Given the description of an element on the screen output the (x, y) to click on. 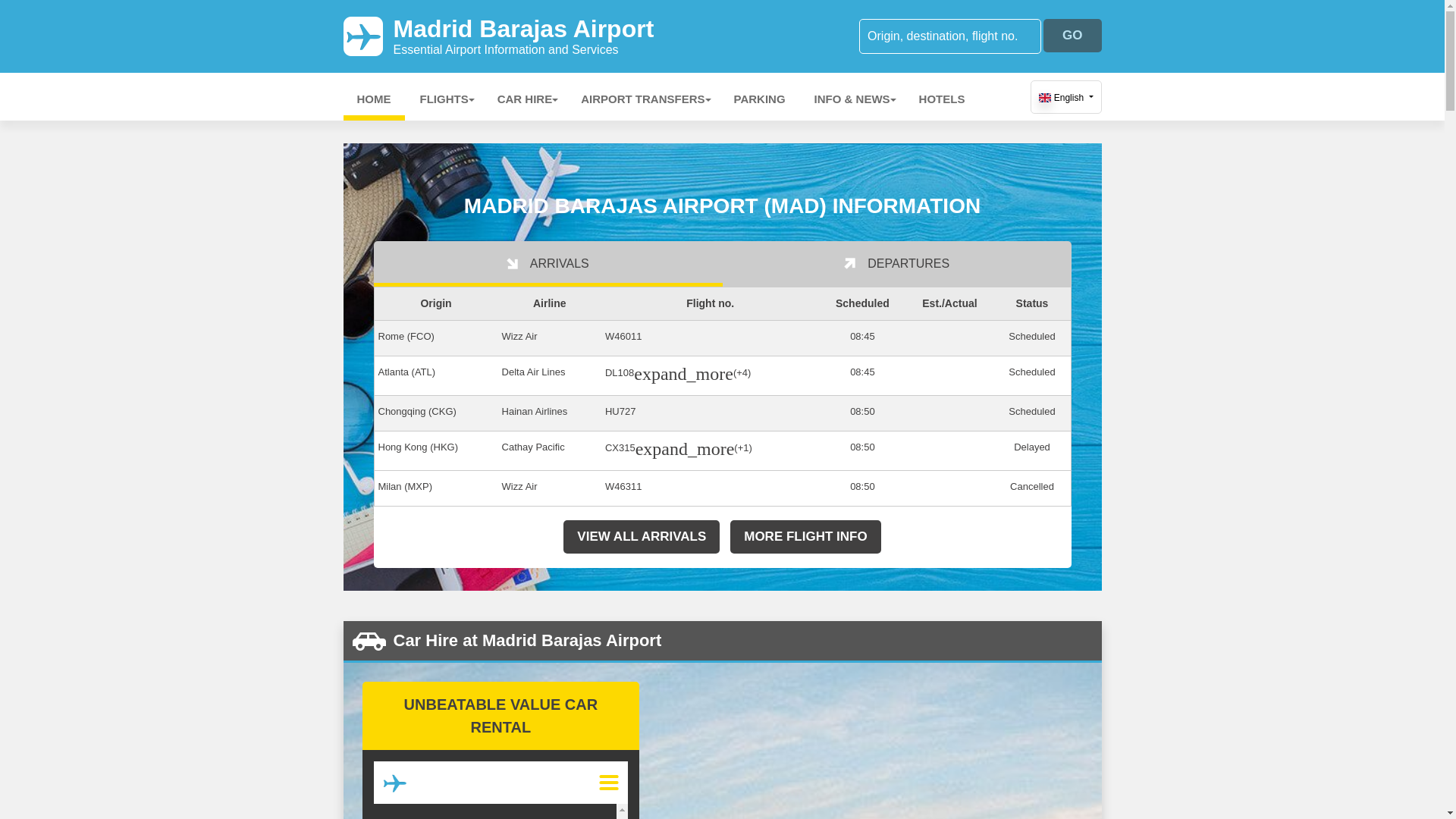
HOME (373, 98)
AIRPORT TRANSFERS (642, 98)
GO (1071, 35)
FLIGHTS (443, 98)
CAR HIRE (524, 98)
